Given the description of an element on the screen output the (x, y) to click on. 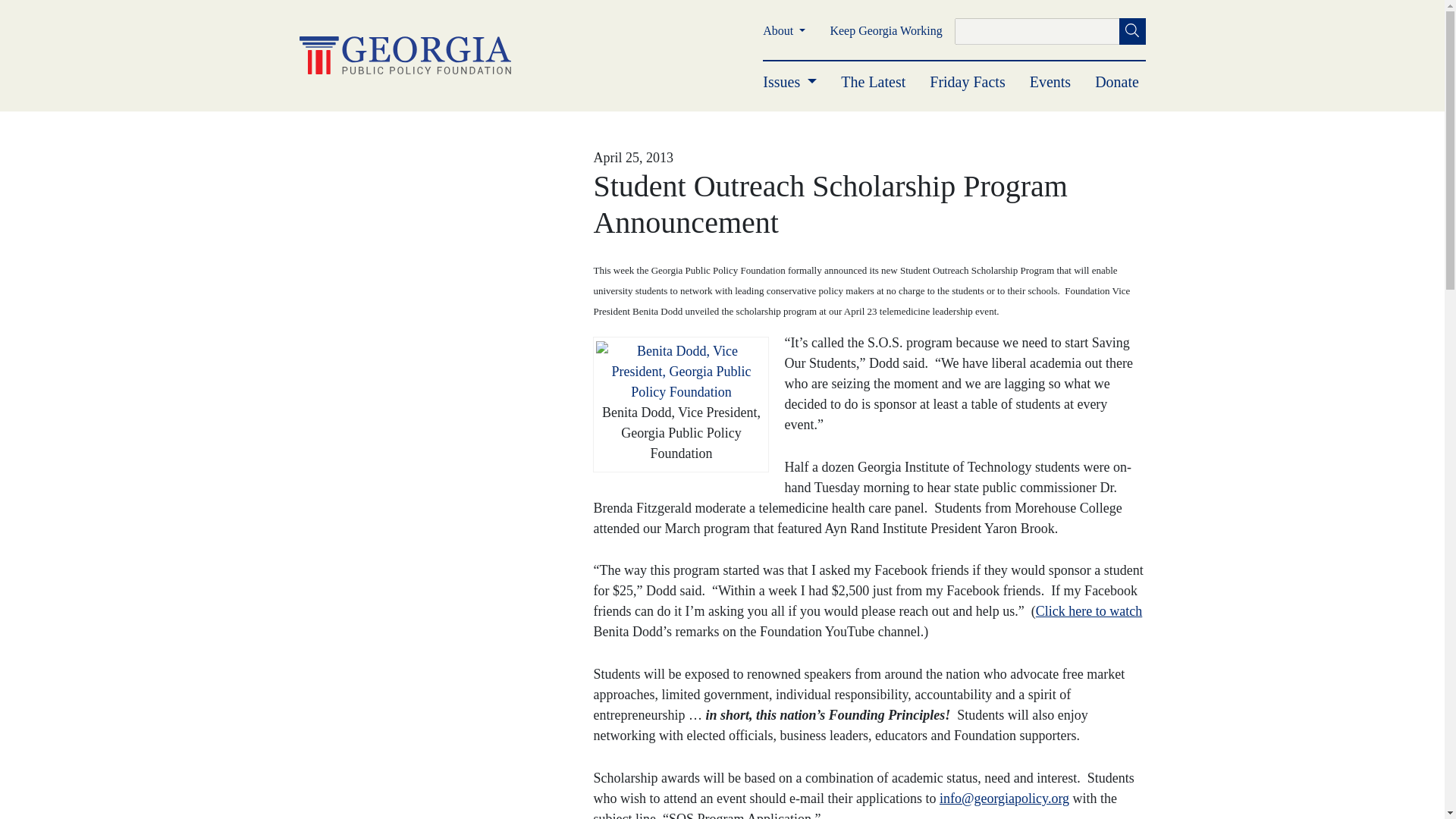
Issues (789, 81)
Click here to watch (1088, 611)
Friday Facts (967, 81)
Keep Georgia Working (885, 30)
About (783, 30)
Events (1049, 81)
The Latest (873, 81)
Donate (1116, 81)
